Given the description of an element on the screen output the (x, y) to click on. 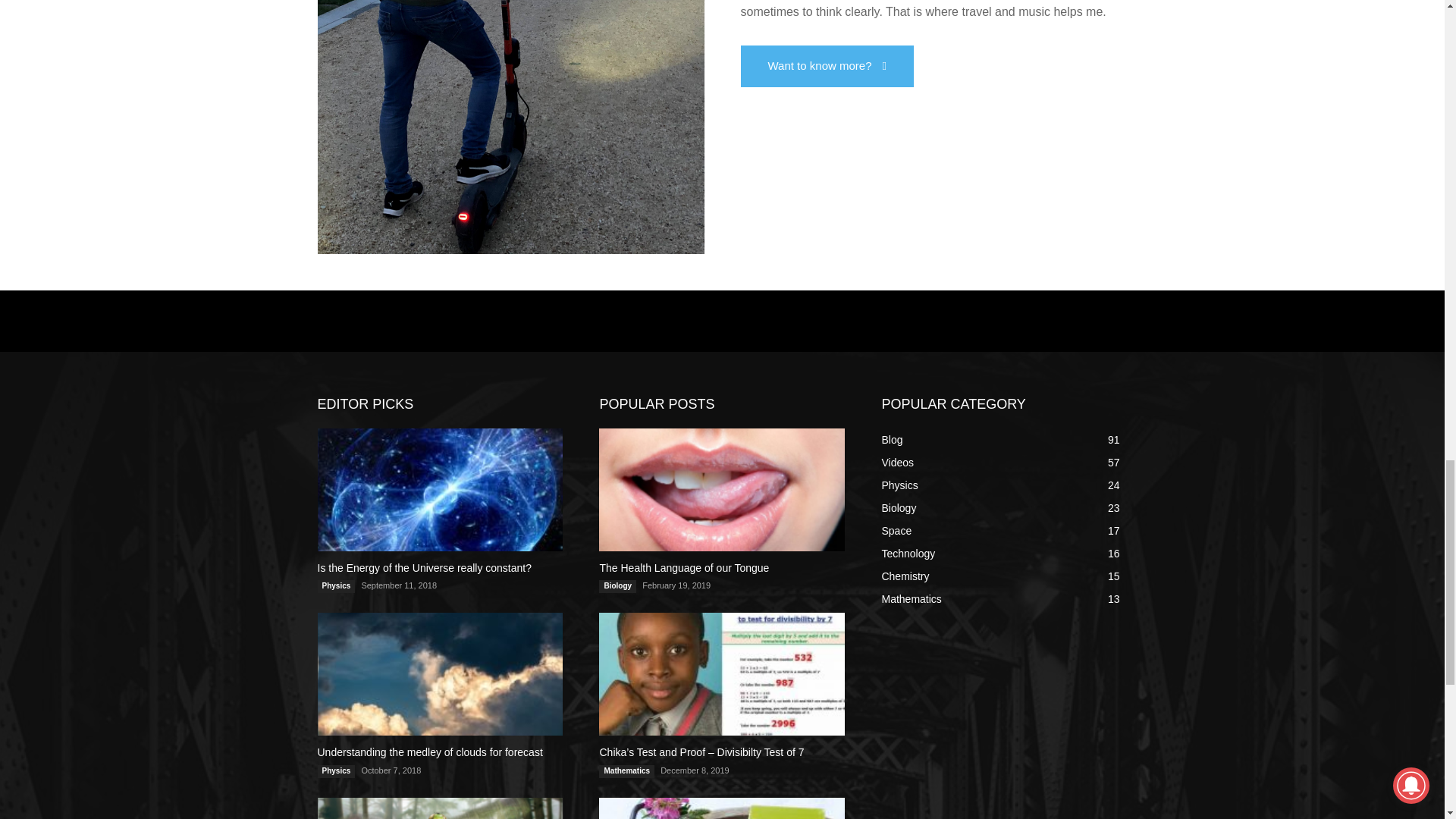
Is the Energy of the Universe really constant? (424, 567)
Is the Energy of the Universe really constant? (439, 489)
Understanding the medley of clouds for forecast (439, 673)
The Health Language of our Tongue (721, 489)
The Health Language of our Tongue (683, 567)
Understanding the medley of clouds for forecast (429, 752)
